Given the description of an element on the screen output the (x, y) to click on. 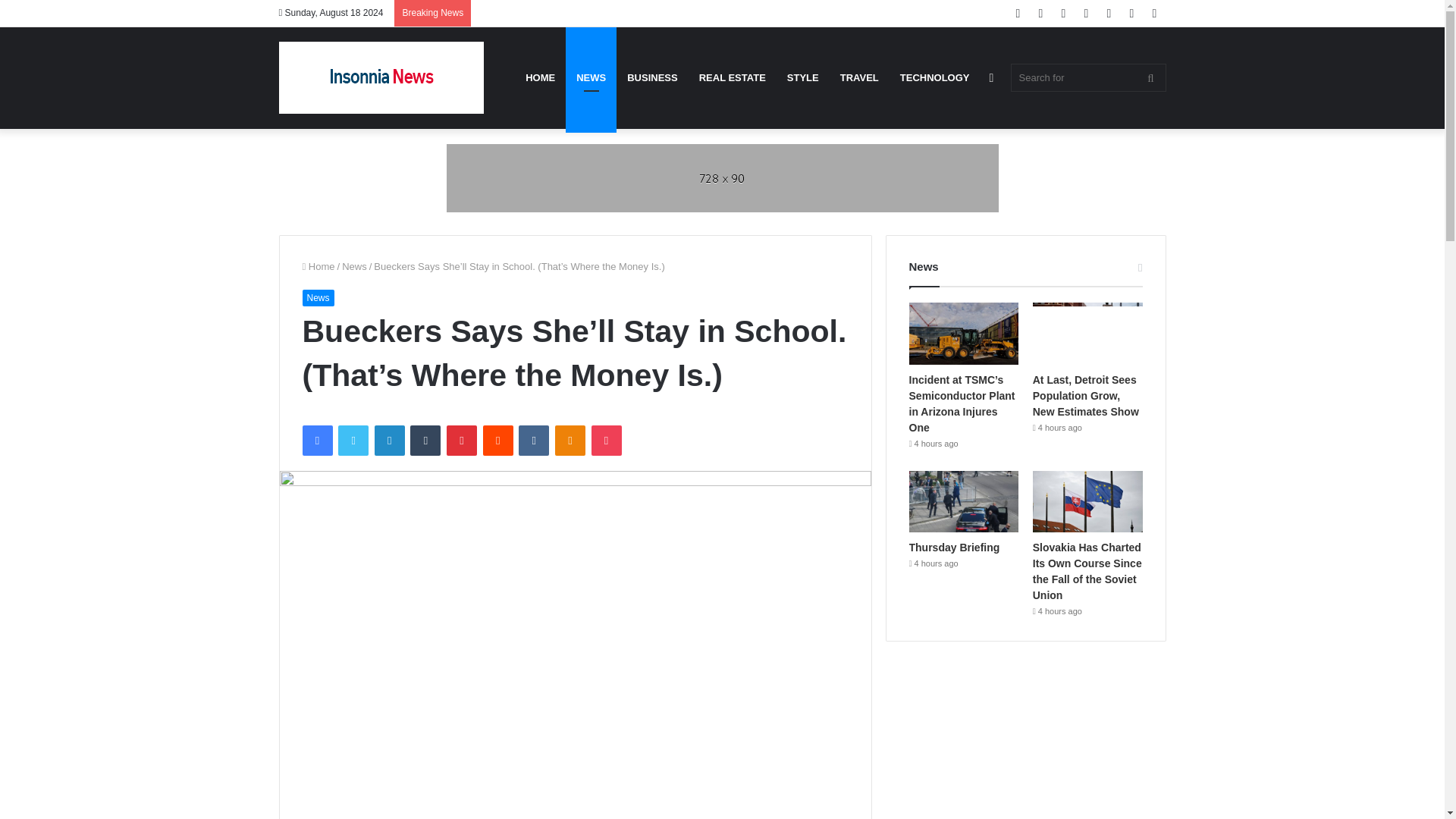
Pocket (606, 440)
Reddit (498, 440)
Odnoklassniki (569, 440)
VKontakte (533, 440)
TECHNOLOGY (934, 77)
Search for (1088, 77)
LinkedIn (389, 440)
Pinterest (461, 440)
Tumblr (425, 440)
Tumblr (425, 440)
